Given the description of an element on the screen output the (x, y) to click on. 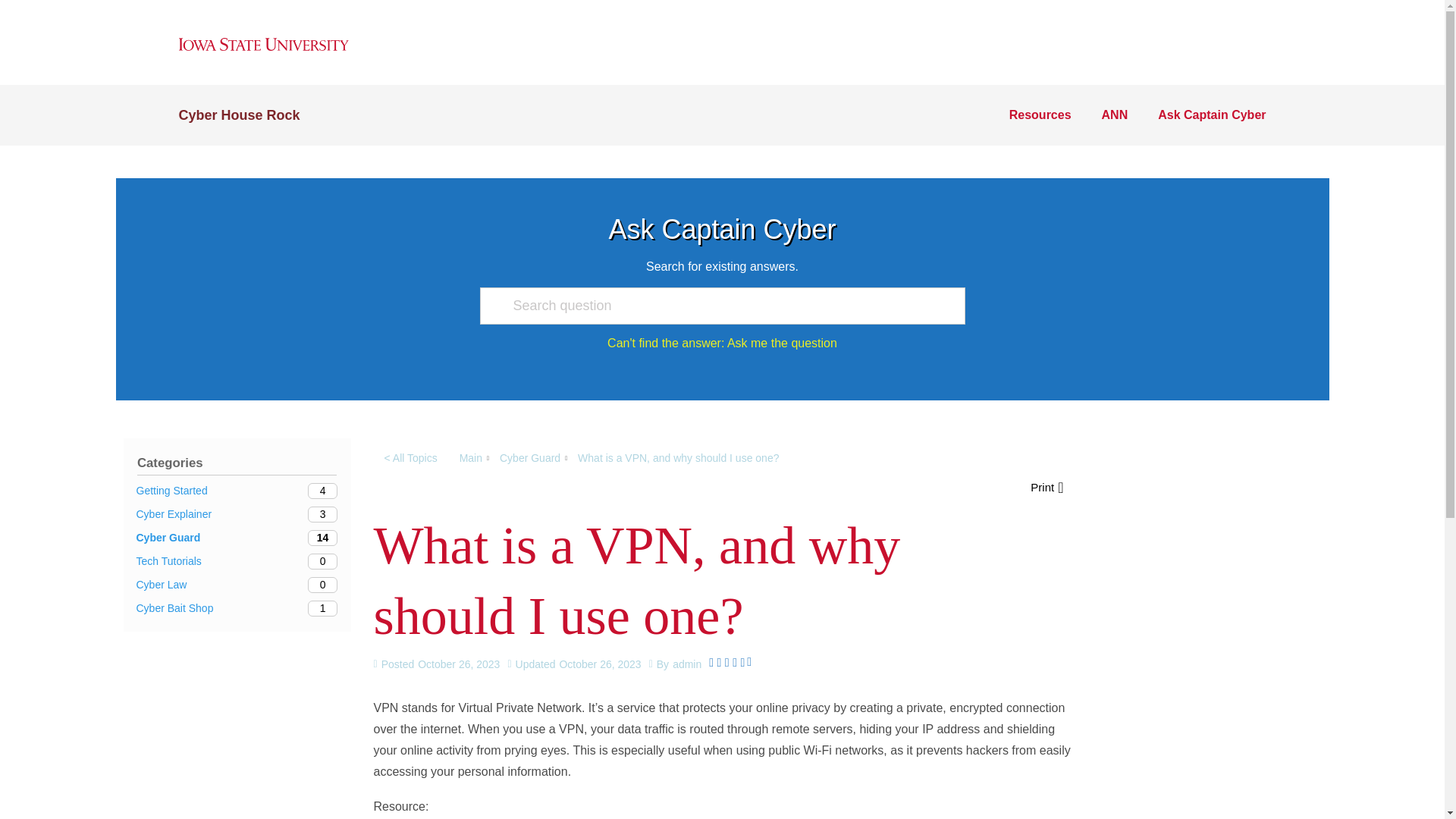
Main (236, 537)
Cyber Guard (236, 514)
Resources (470, 458)
Cyber House Rock (236, 561)
Can't find the answer: Ask me the question (529, 458)
Ask Captain Cyber (1040, 115)
ANN (721, 115)
